Given the description of an element on the screen output the (x, y) to click on. 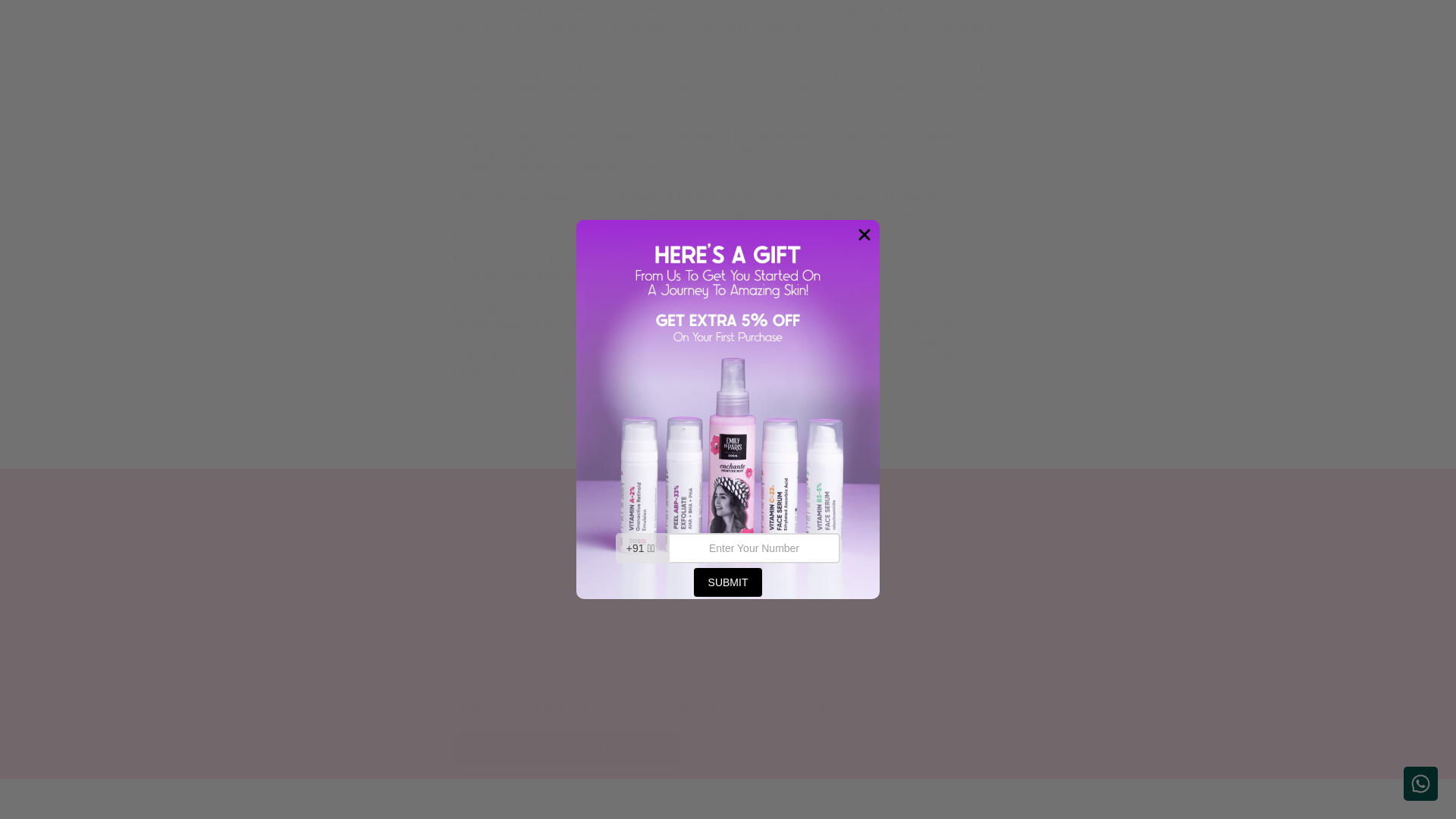
Post comment (565, 748)
